Given the description of an element on the screen output the (x, y) to click on. 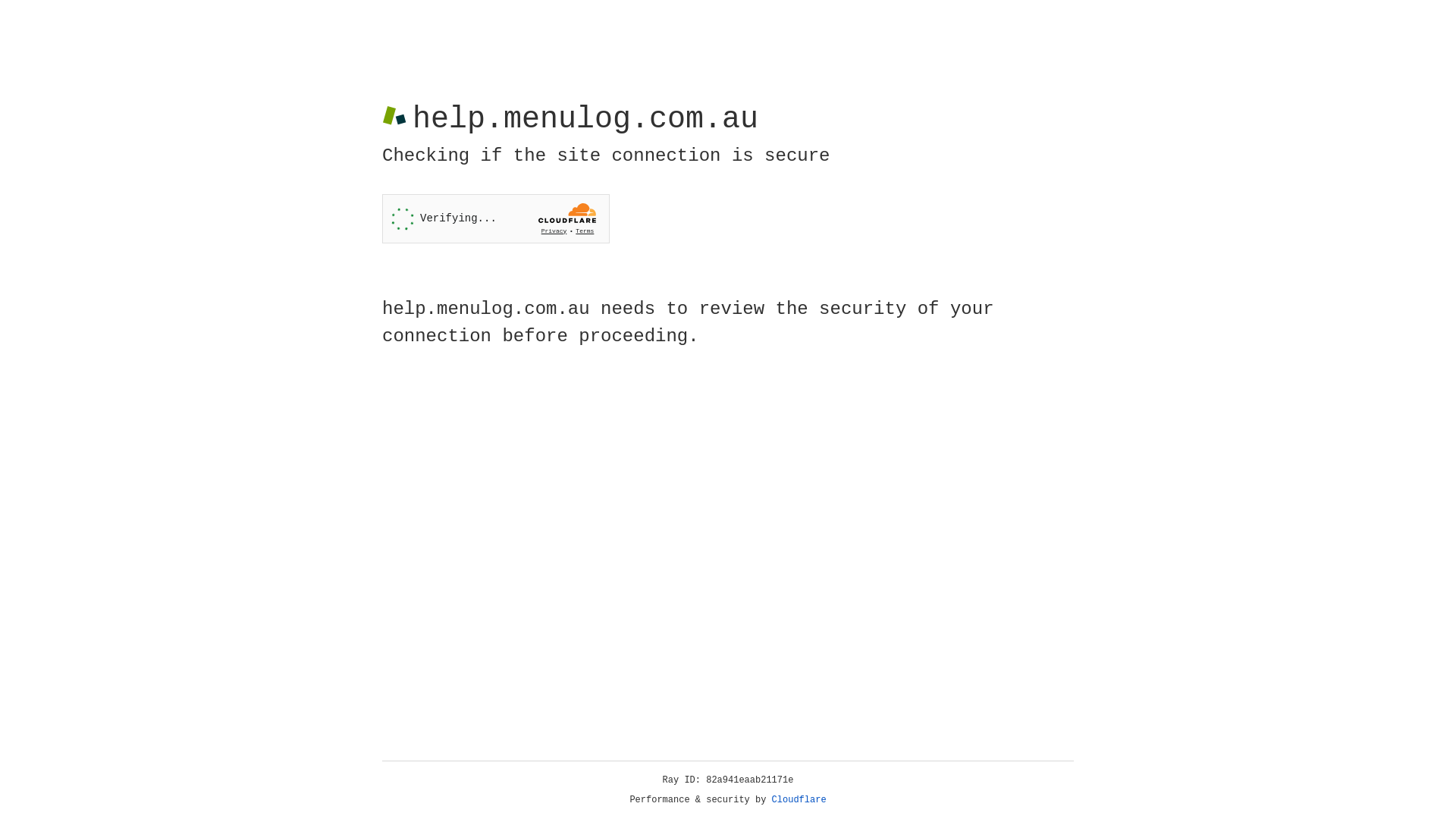
Widget containing a Cloudflare security challenge Element type: hover (495, 218)
Cloudflare Element type: text (798, 799)
